Given the description of an element on the screen output the (x, y) to click on. 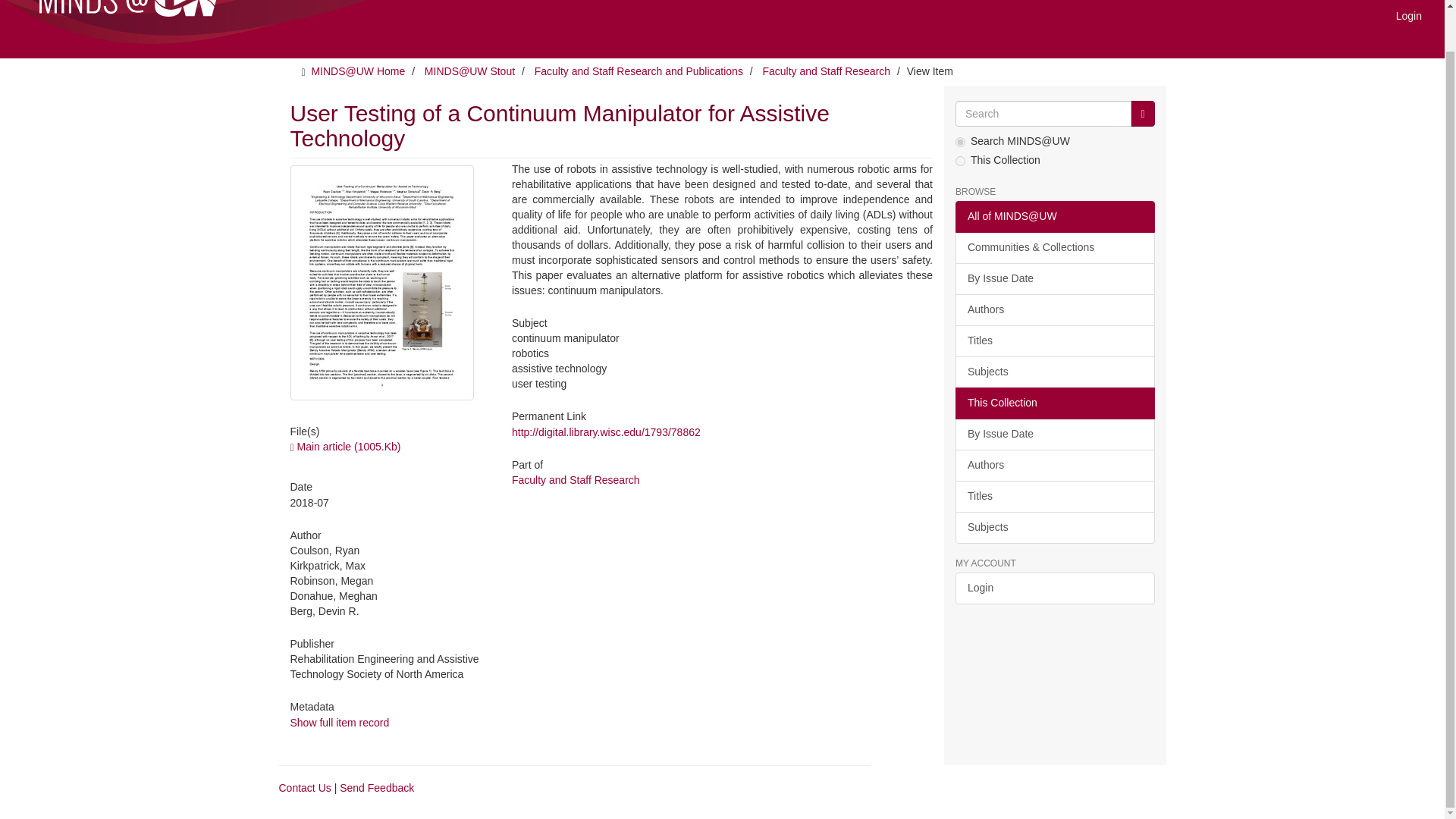
Login (1054, 588)
Authors (1054, 465)
Faculty and Staff Research and Publications (638, 70)
Subjects (1054, 372)
Send Feedback (376, 787)
Authors (1054, 309)
Titles (1054, 496)
Contact Us (305, 787)
By Issue Date (1054, 434)
Go (1142, 113)
